Given the description of an element on the screen output the (x, y) to click on. 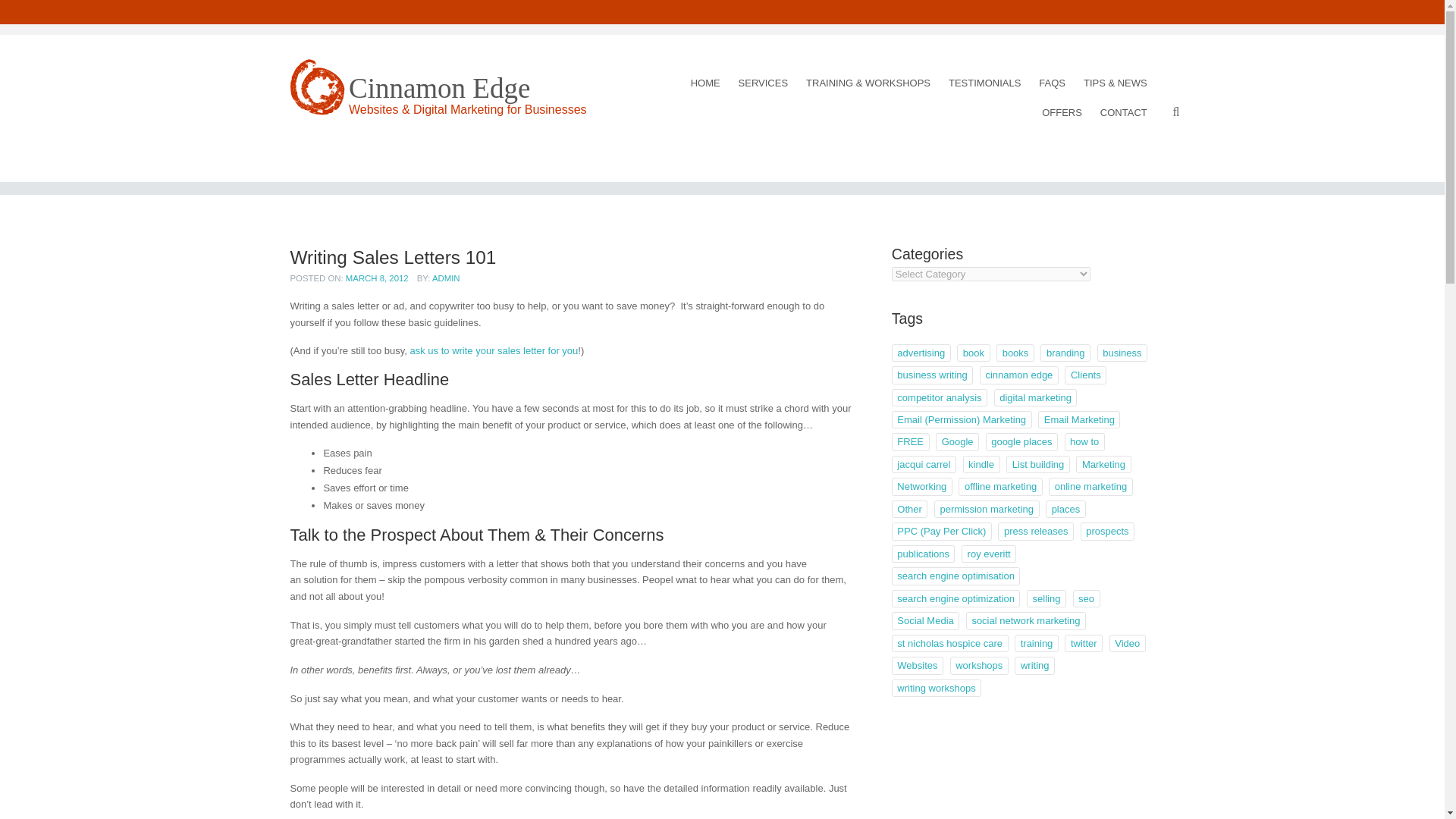
Cinnamon Edge (439, 88)
MARCH 8, 2012 (377, 277)
advertising (920, 352)
Getting Your Business Noticed (705, 82)
FAQS (1052, 82)
ask us to write your sales letter for you (493, 350)
ADMIN (446, 277)
Cinnamon Edge (439, 88)
HOME (705, 82)
